Given the description of an element on the screen output the (x, y) to click on. 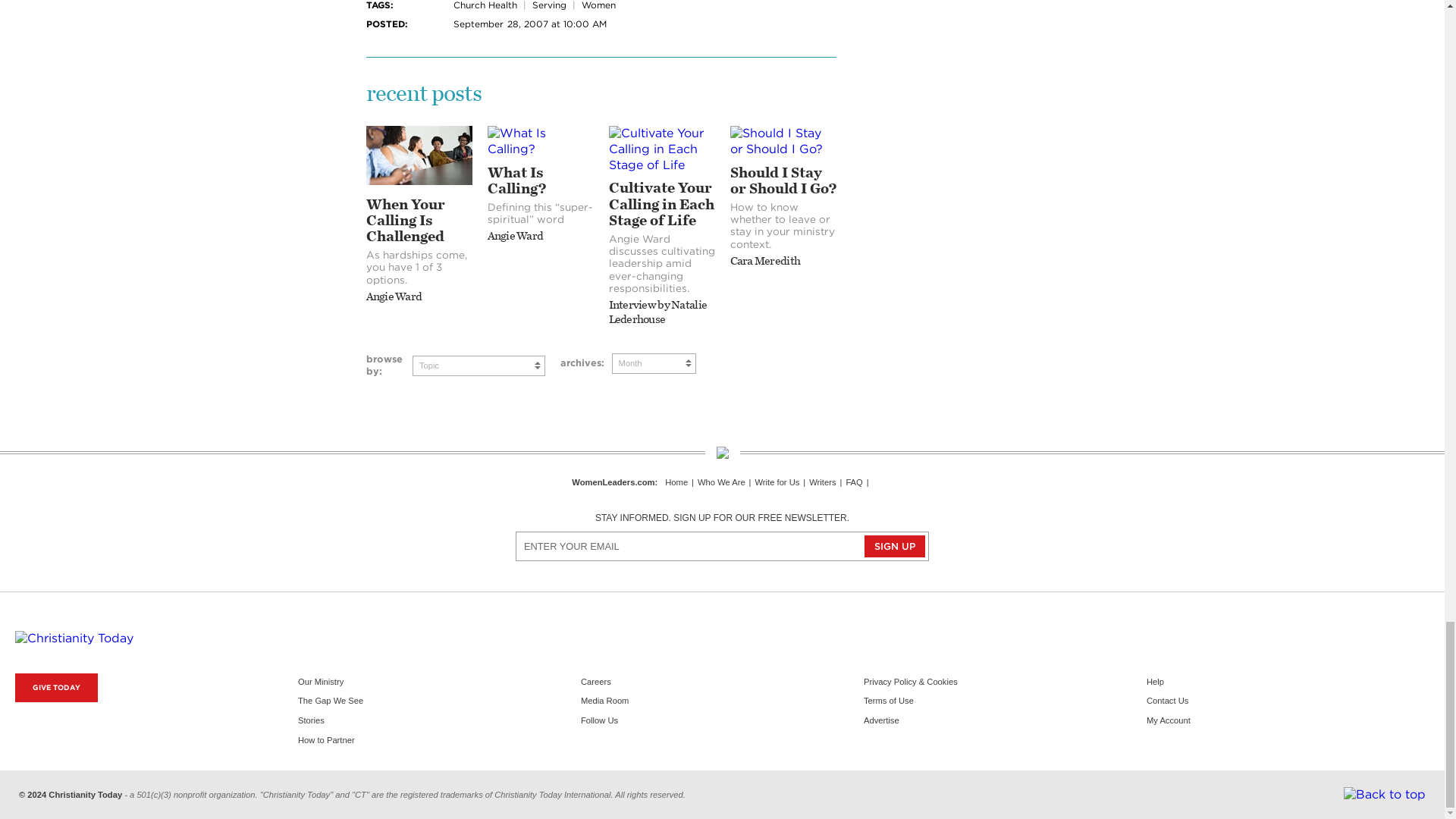
Cultivate Your Calling in Each Stage of Life (661, 164)
Sign Up (894, 546)
Cultivate Your Calling in Each Stage of Life (661, 149)
Women (597, 4)
Should I Stay or Should I Go? (782, 148)
What Is Calling? (539, 142)
Church Health (484, 4)
Serving (549, 4)
September (477, 23)
When Your Calling Is Challenged (418, 180)
Should I Stay or Should I Go? (782, 142)
When Your Calling Is Challenged (418, 155)
What Is Calling? (539, 148)
